Given the description of an element on the screen output the (x, y) to click on. 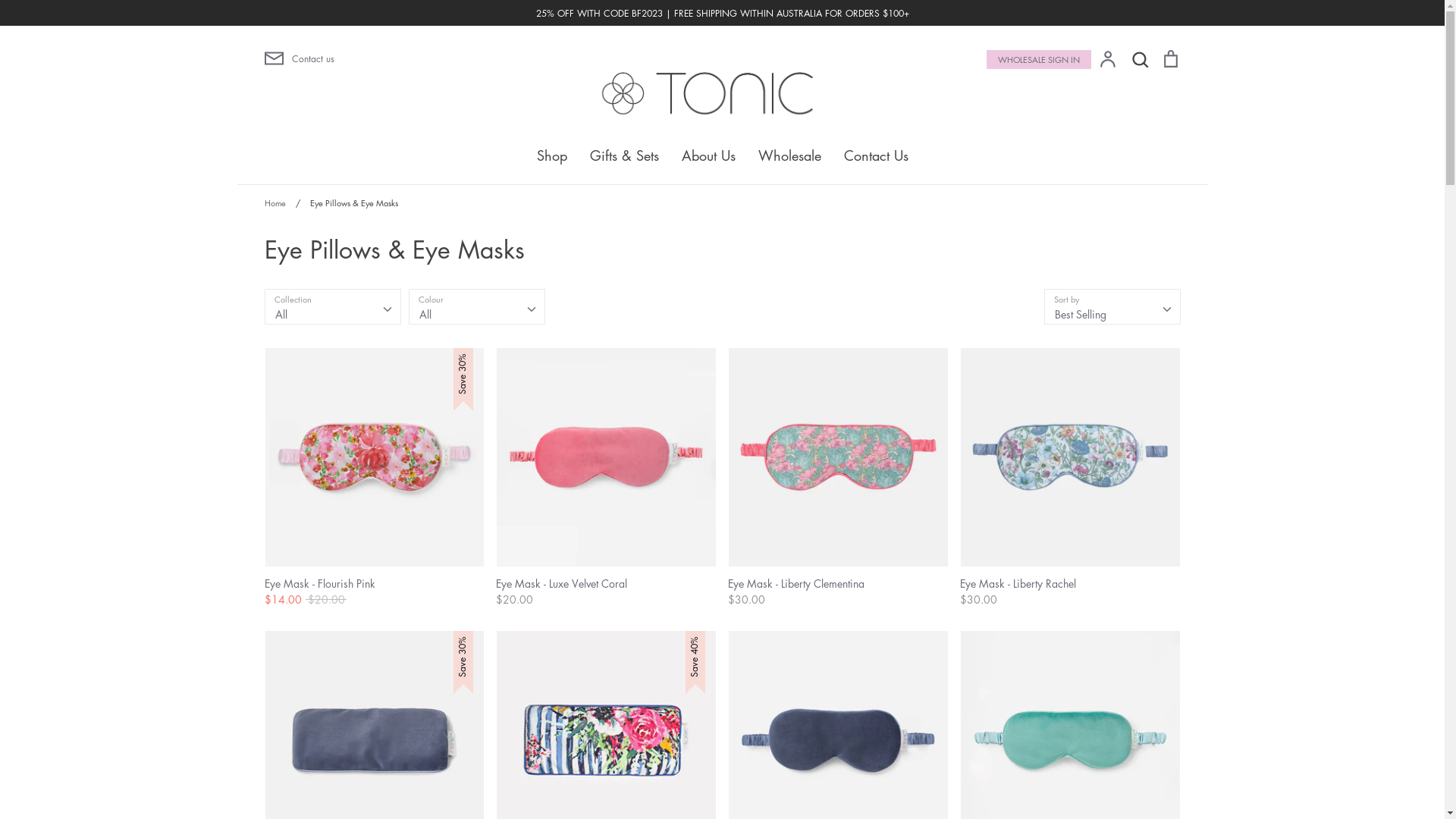
About Us Element type: text (707, 155)
WHOLESALE SIGN IN Element type: text (1037, 59)
Shop Element type: text (551, 155)
Wholesale Element type: text (789, 155)
Gifts & Sets Element type: text (623, 155)
Search Element type: text (1139, 56)
Contact Us Element type: text (875, 155)
/ Eye Pillows & Eye Masks Element type: text (343, 202)
Contact us Element type: text (403, 58)
Eye Mask - Liberty Clementina
$30.00 Element type: text (838, 477)
Account Element type: text (1107, 59)
Home Element type: text (274, 202)
Cart Element type: text (1169, 56)
Eye Mask - Luxe Velvet Coral
$20.00 Element type: text (605, 477)
Eye Mask - Liberty Rachel
$30.00 Element type: text (1070, 477)
